Given the description of an element on the screen output the (x, y) to click on. 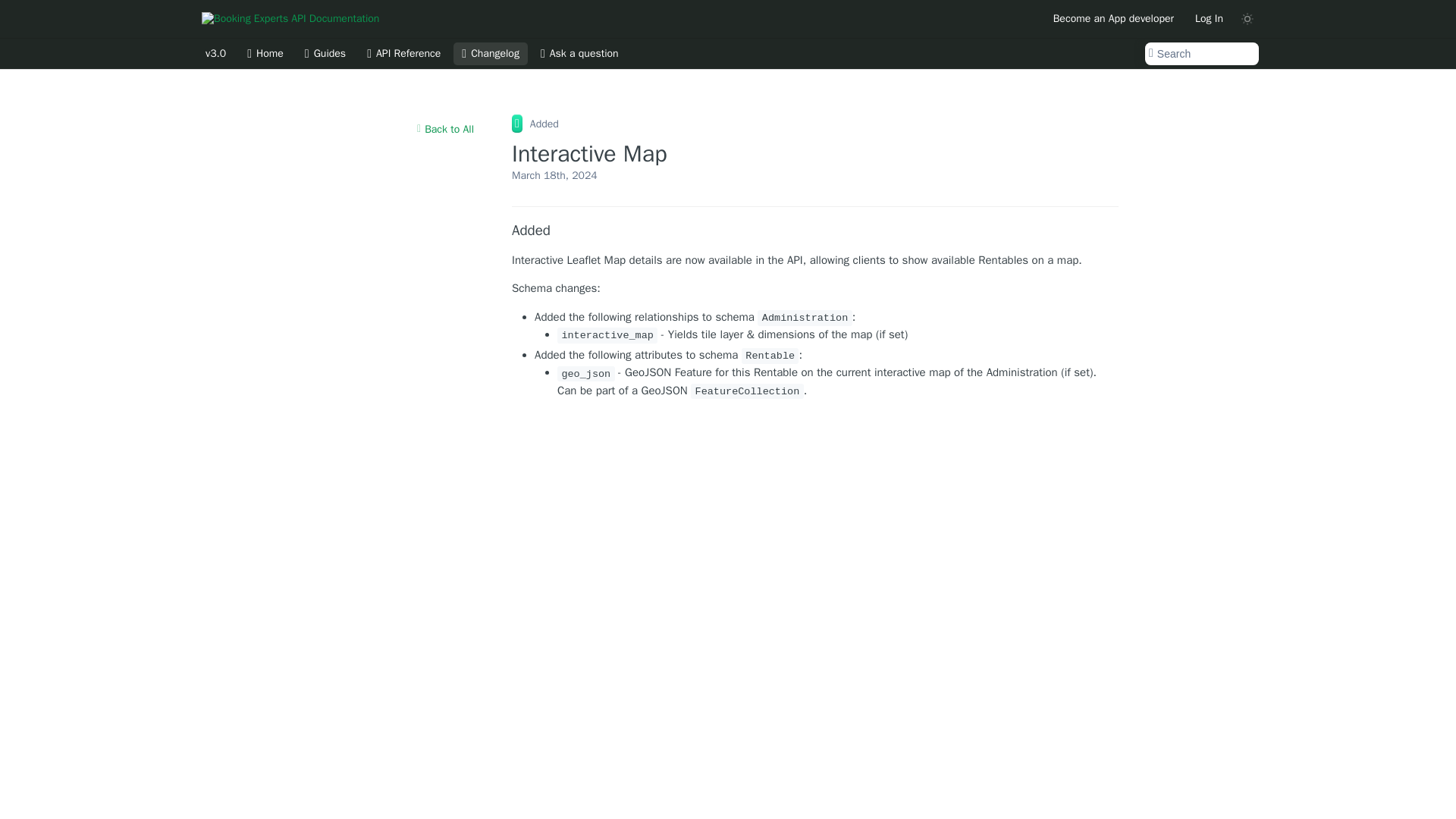
Log In (1208, 18)
Back to All (445, 128)
Added (815, 230)
API Reference (403, 53)
Guides (325, 53)
Become an App developer (1113, 18)
Search (1201, 53)
Ask a question (579, 53)
Home (265, 53)
Changelog (489, 53)
